Given the description of an element on the screen output the (x, y) to click on. 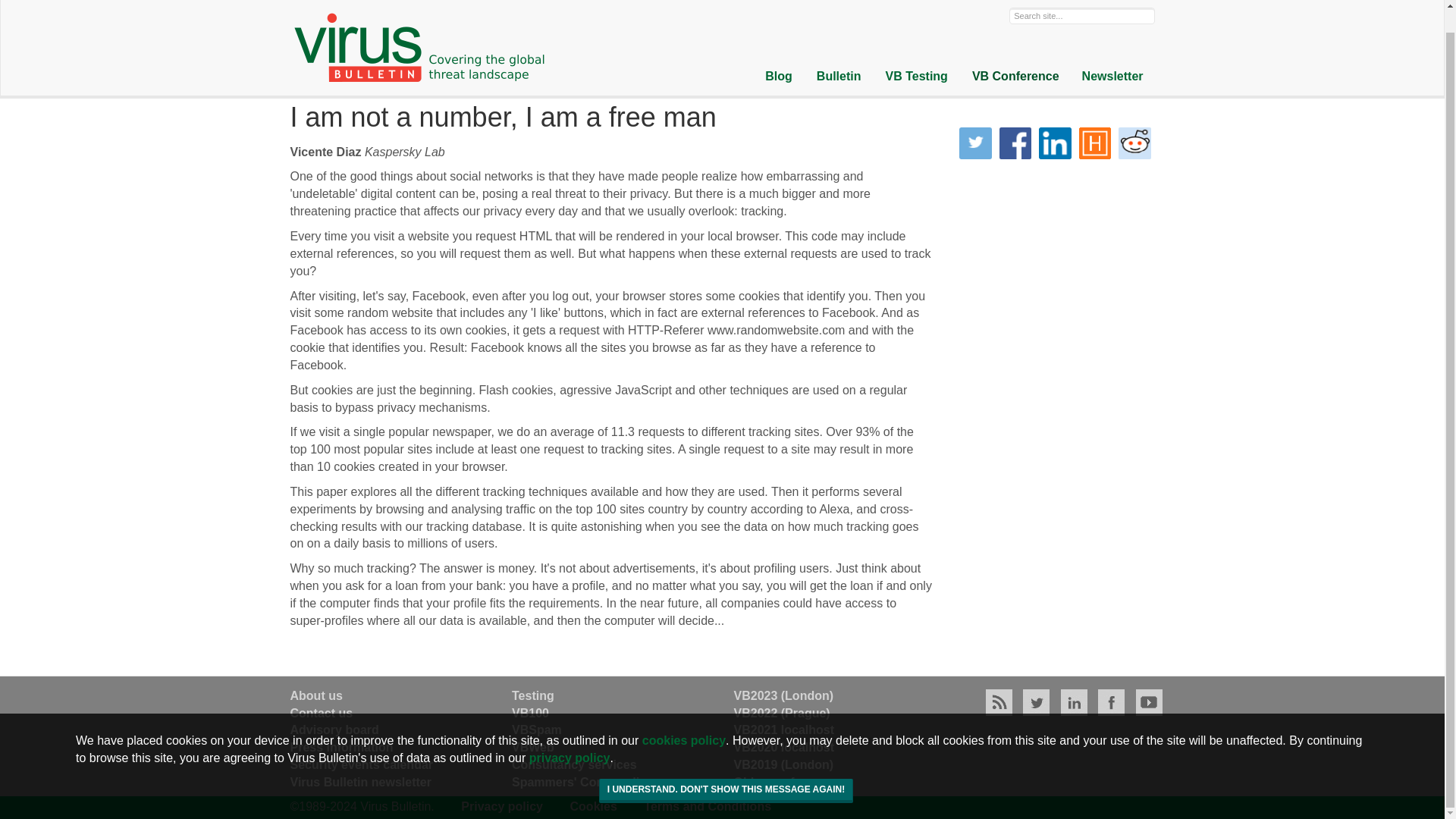
VBWeb (533, 747)
VB2020 localhost (783, 747)
Contact us (320, 712)
Search! (30, 1)
cookies policy (683, 717)
Security events calendar (360, 764)
VB100 (530, 712)
Bulletin (838, 53)
Share on Hacker News (1095, 143)
VB Conference (1015, 53)
Newsletter (1112, 53)
Consultancy Services (574, 764)
VBSpam (537, 729)
Share on Facebook (1014, 143)
About Us (315, 695)
